Given the description of an element on the screen output the (x, y) to click on. 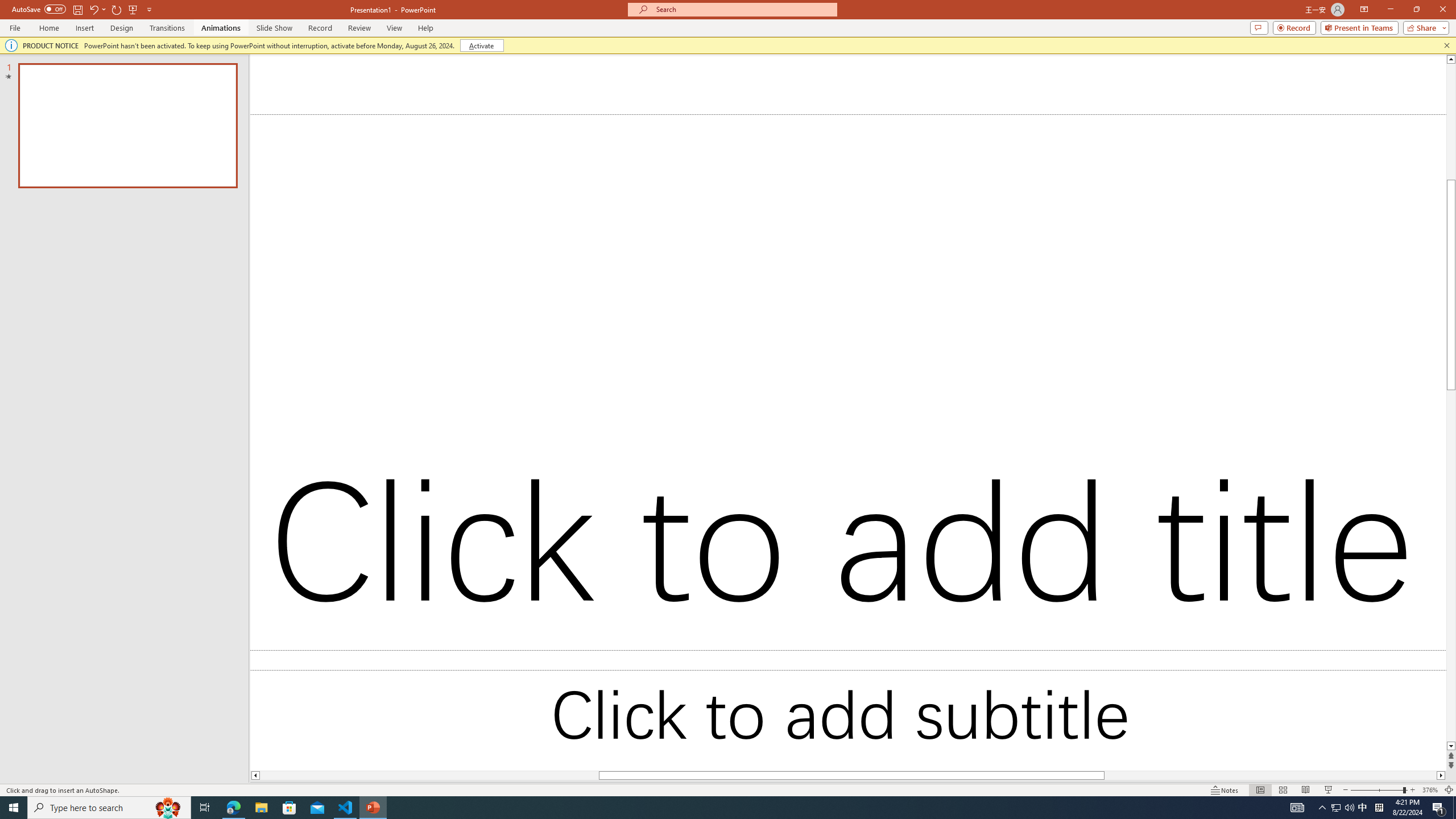
Close this message (1446, 45)
